Given the description of an element on the screen output the (x, y) to click on. 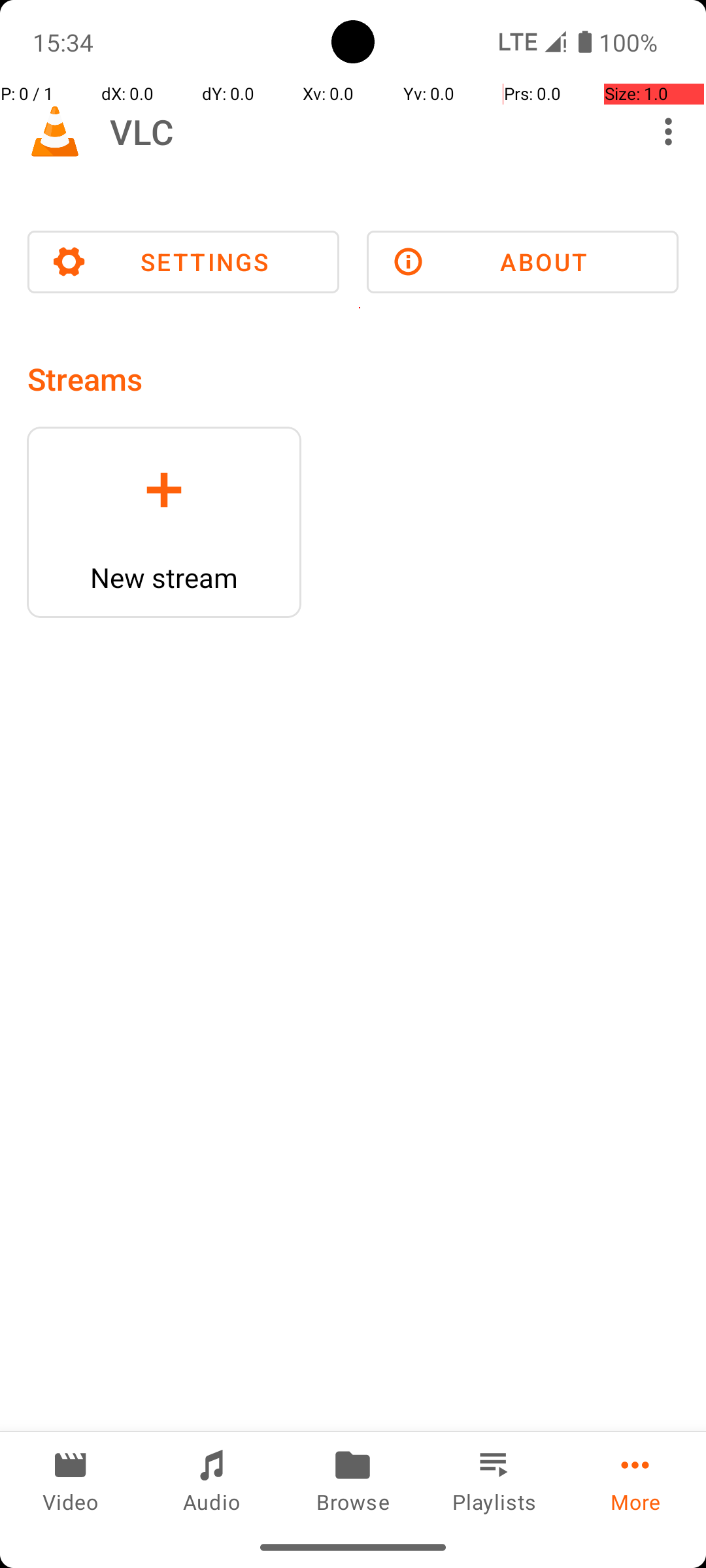
SETTINGS Element type: android.widget.Button (183, 261)
ABOUT Element type: android.widget.Button (522, 261)
Streams Element type: android.widget.TextView (84, 378)
New stream Element type: android.widget.TextView (163, 576)
